Given the description of an element on the screen output the (x, y) to click on. 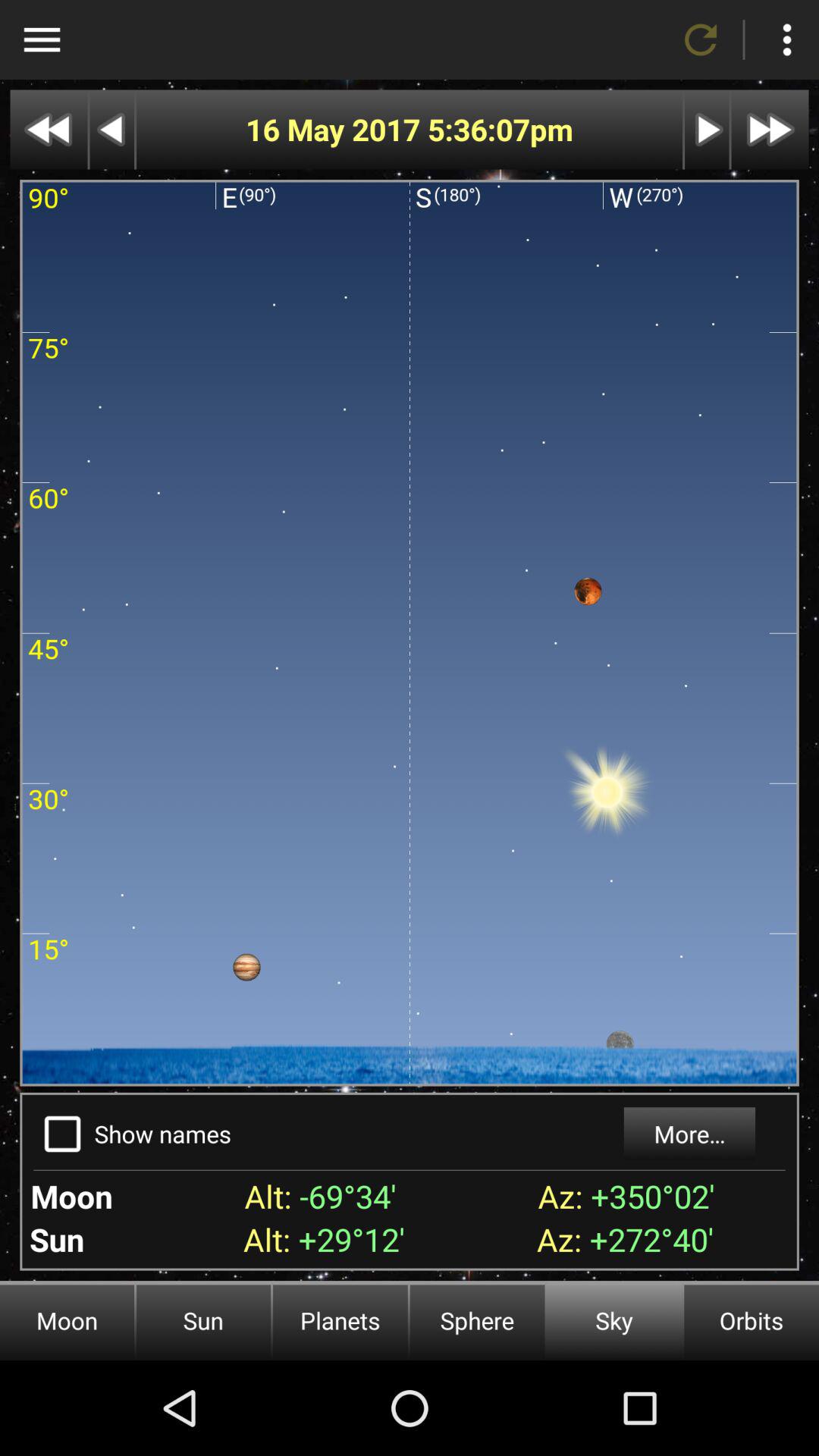
rewind the display (48, 129)
